Given the description of an element on the screen output the (x, y) to click on. 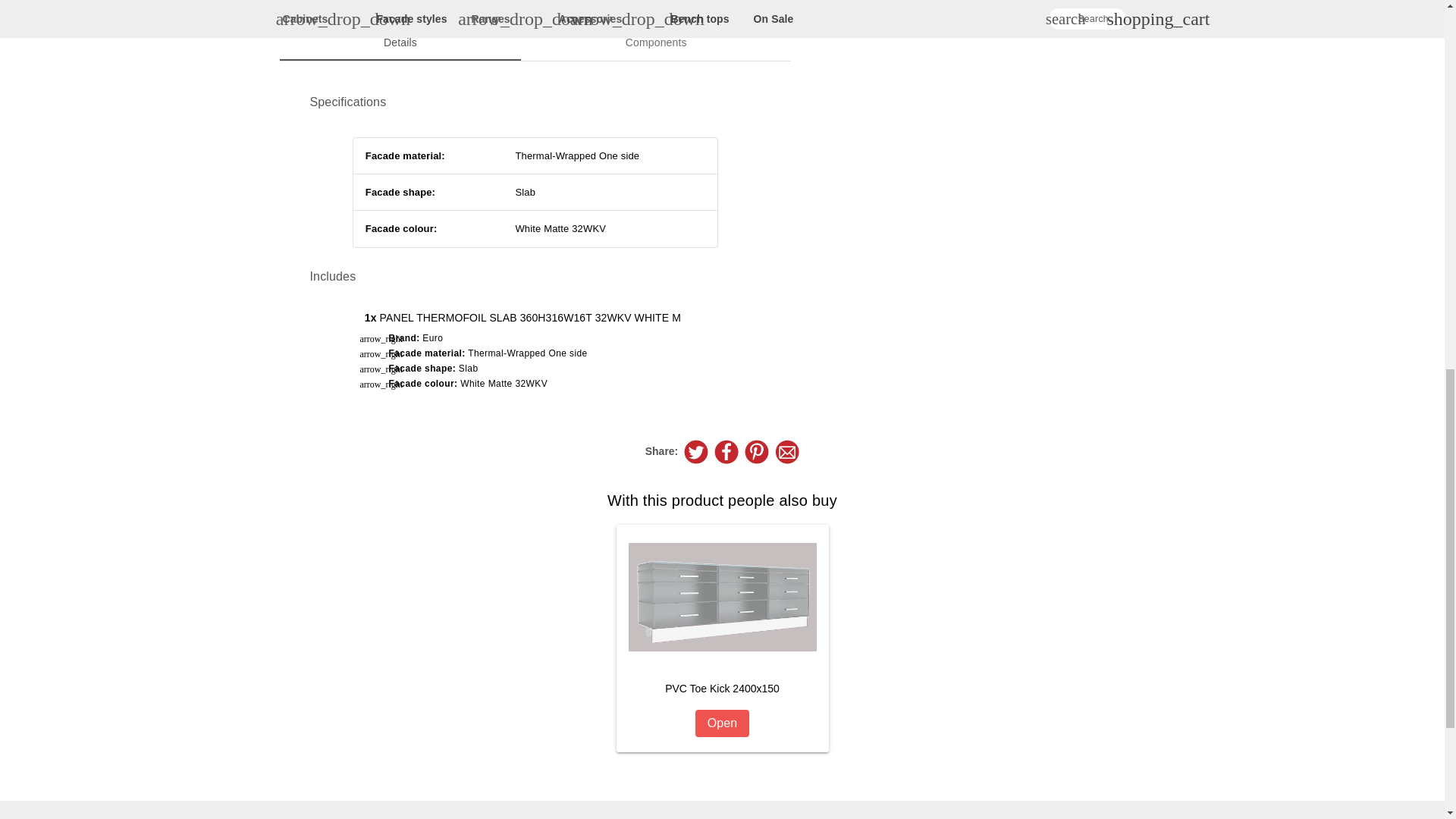
Share with friends on Facebook (726, 451)
Share with a friend via an email (786, 451)
Share with followers on Twitter (695, 451)
Add to your board on Pinterest (756, 451)
